Given the description of an element on the screen output the (x, y) to click on. 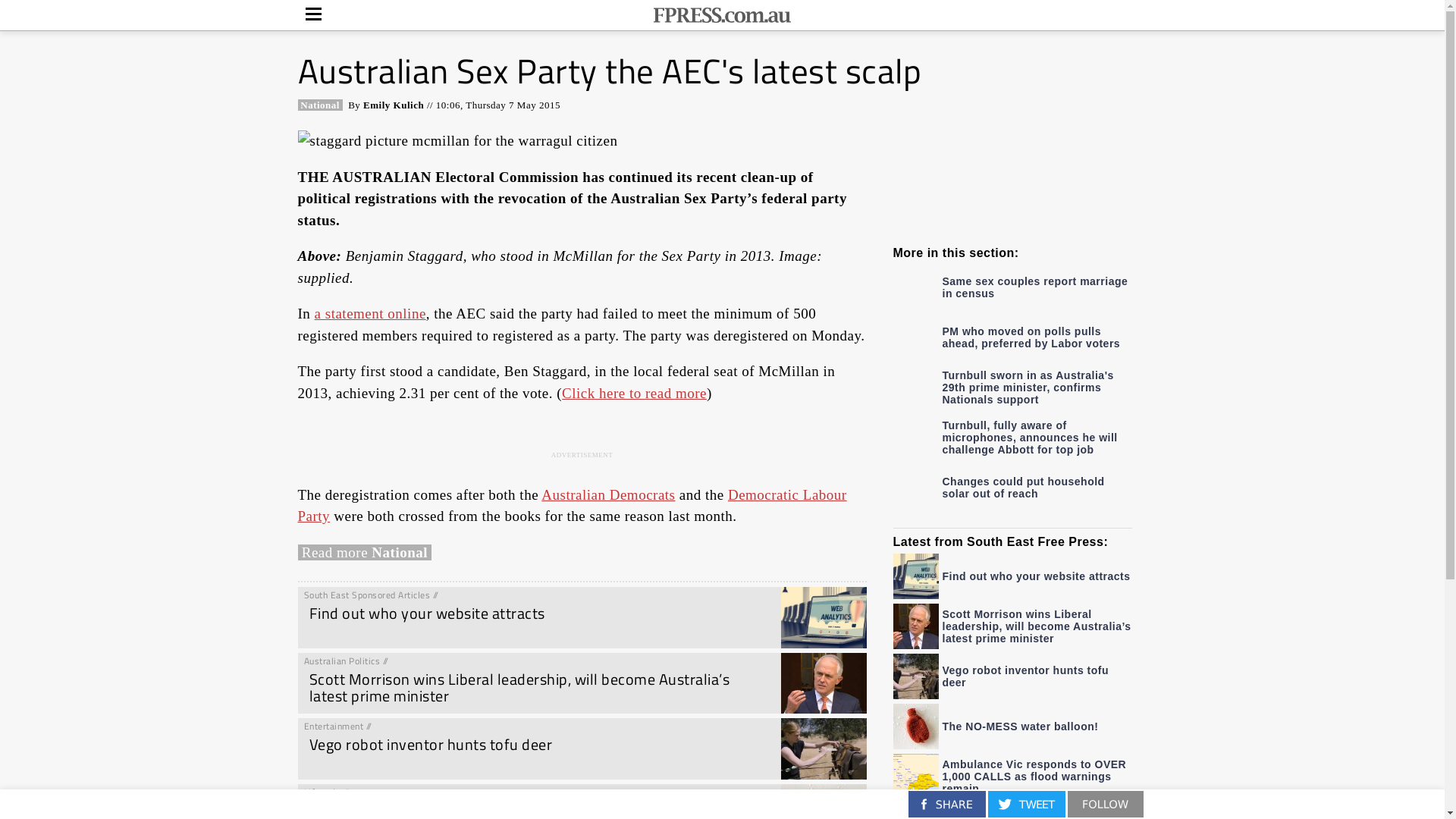
 Read more National  Element type: text (364, 552)
 National  Element type: text (319, 103)
Democratic Labour Party Element type: text (571, 505)
Emily Kulich Element type: text (393, 103)
Click here to read more Element type: text (633, 393)
Changes could put household solar out of reach Element type: text (1012, 493)
Australian Democrats Element type: text (607, 494)
Same sex couples report marriage in census Element type: text (1012, 295)
a statement online Element type: text (370, 313)
PM who moved on polls pulls ahead, preferred by Labor voters Element type: text (1012, 336)
